Given the description of an element on the screen output the (x, y) to click on. 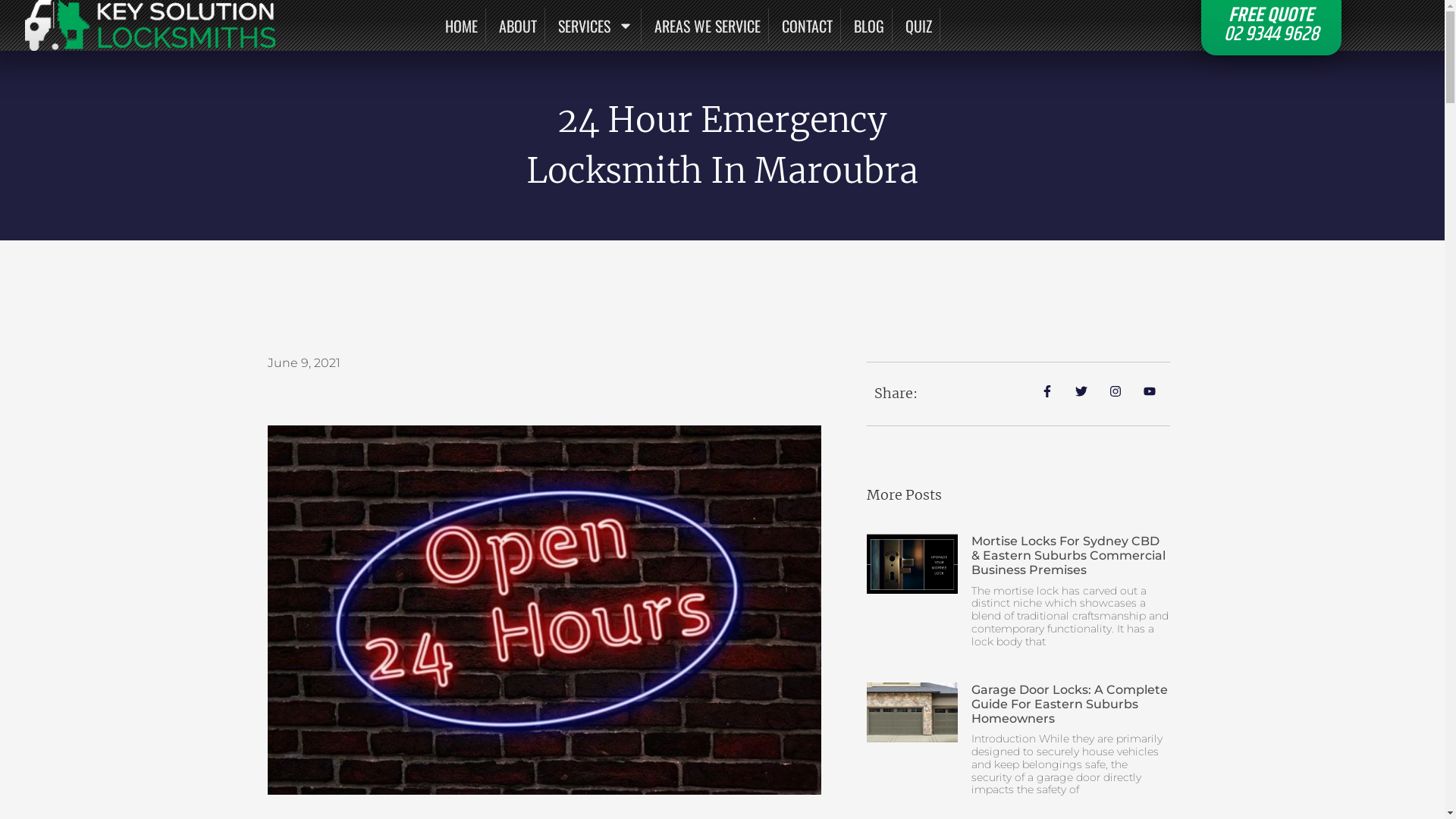
BLOG Element type: text (872, 25)
QUIZ Element type: text (921, 25)
SERVICES Element type: text (598, 25)
ABOUT Element type: text (521, 25)
AREAS WE SERVICE Element type: text (710, 25)
CONTACT Element type: text (810, 25)
June 9, 2021 Element type: text (302, 363)
HOME Element type: text (464, 25)
